Given the description of an element on the screen output the (x, y) to click on. 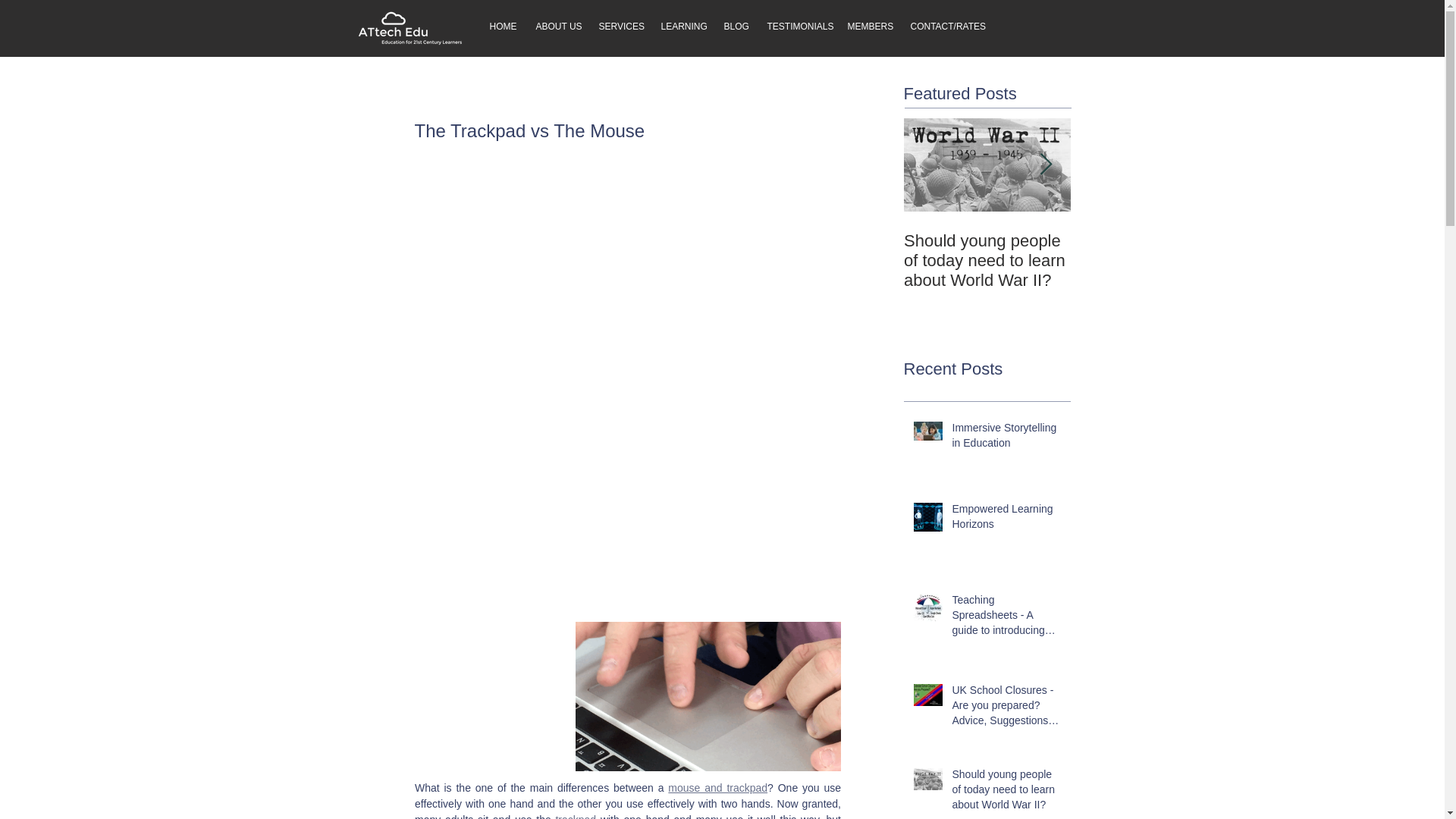
BLOG (734, 26)
HOME (500, 26)
ABOUT US (556, 26)
MEMBERS (866, 26)
mouse and trackpad (717, 787)
TESTIMONIALS (795, 26)
trackpad (574, 816)
SERVICES (617, 26)
